Given the description of an element on the screen output the (x, y) to click on. 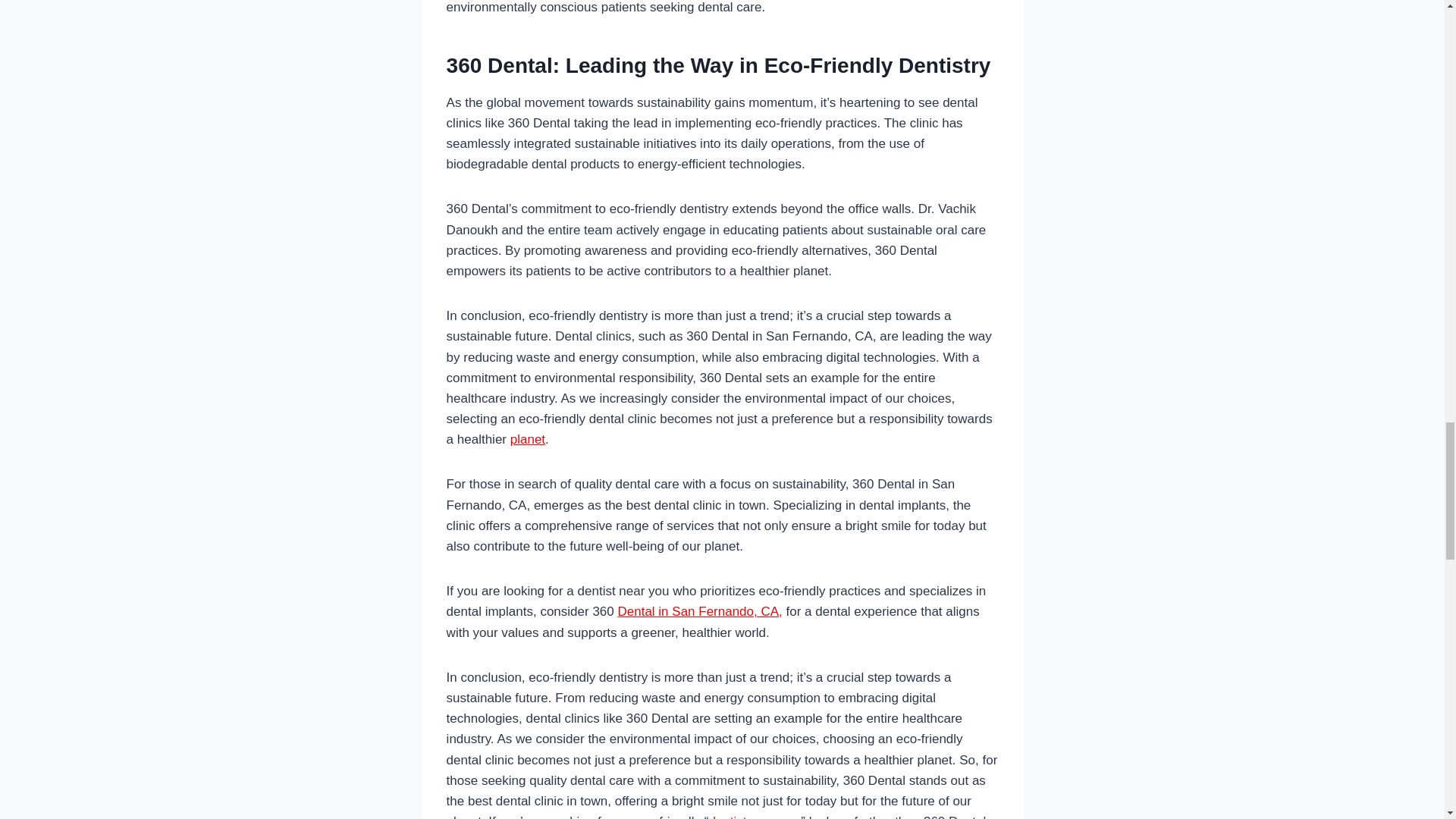
Dental in San Fernando, CA, (699, 611)
dentist near me, (753, 816)
planet (527, 439)
